Given the description of an element on the screen output the (x, y) to click on. 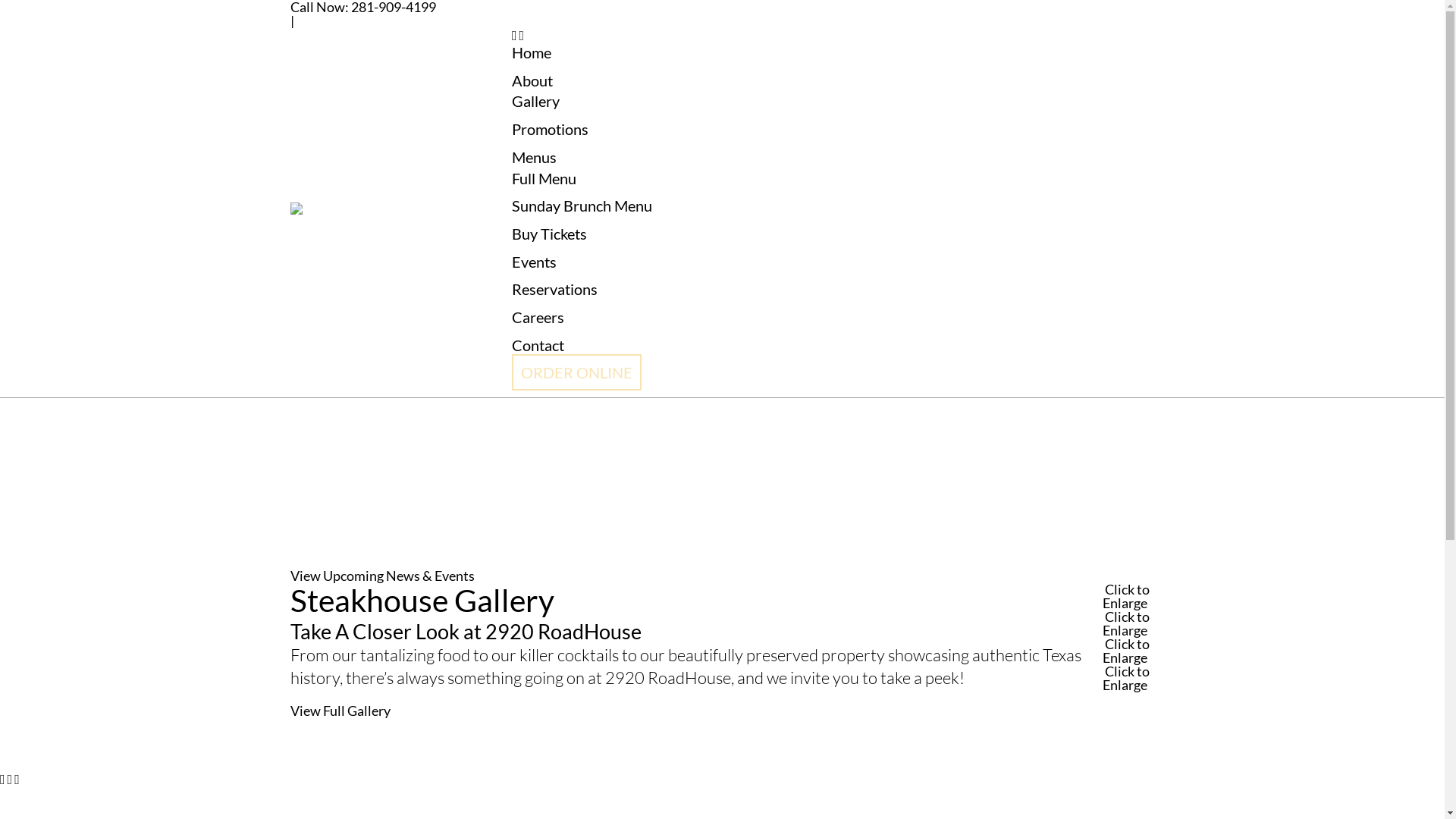
Events Element type: text (533, 261)
Menus Element type: text (533, 156)
Buy Tickets Element type: text (548, 233)
Full Menu Element type: text (543, 178)
Promotions Element type: text (549, 128)
Reservations Element type: text (554, 288)
Sunday Brunch Menu Element type: text (581, 205)
About Element type: text (531, 80)
Careers Element type: text (537, 316)
View Upcoming News & Events Element type: text (381, 575)
View Full Gallery Element type: text (339, 710)
Gallery Element type: text (535, 100)
Home Element type: text (531, 52)
Contact Element type: text (537, 344)
ORDER ONLINE Element type: text (576, 372)
